Given the description of an element on the screen output the (x, y) to click on. 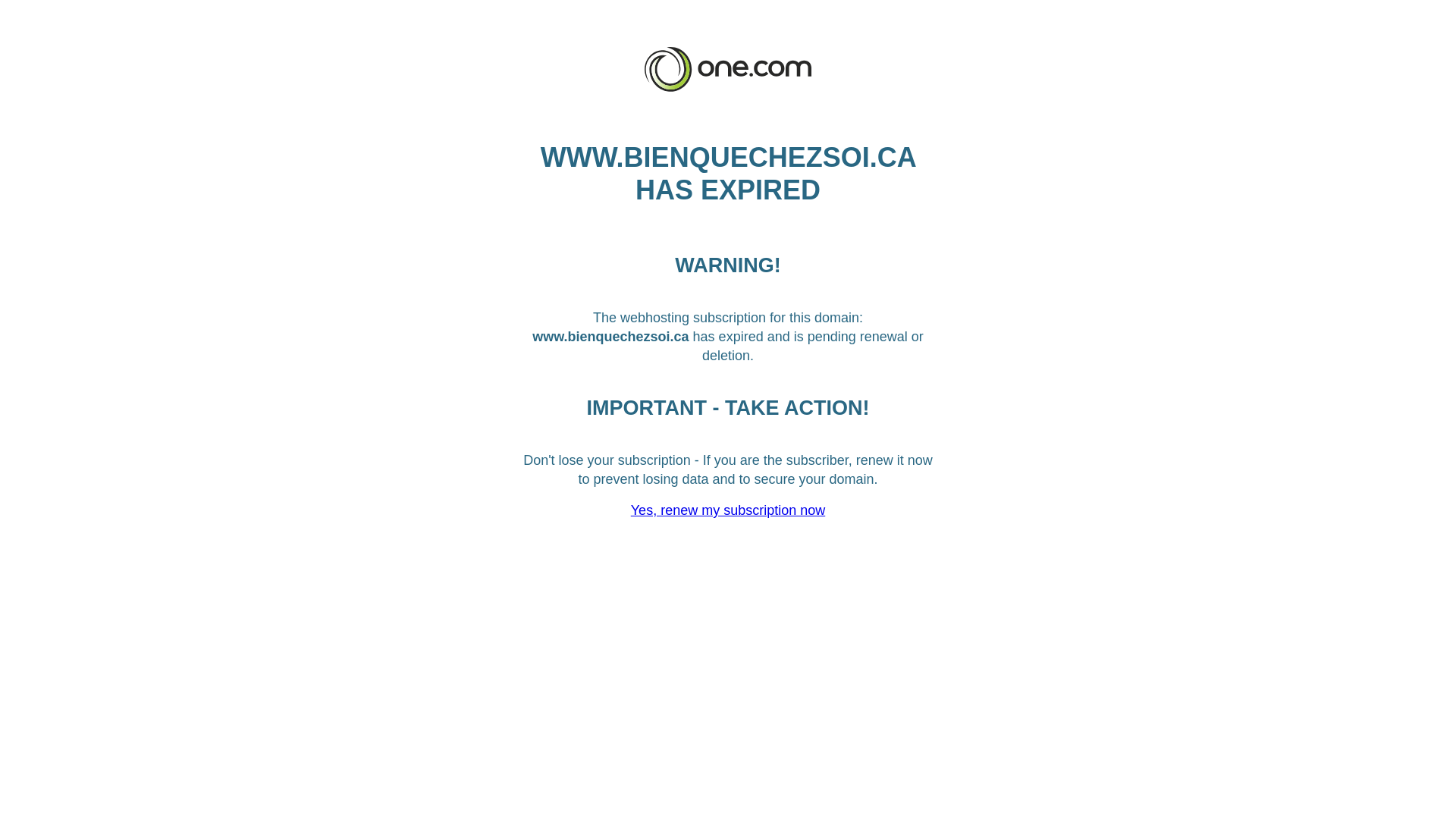
Yes, renew my subscription now Element type: text (727, 509)
